Given the description of an element on the screen output the (x, y) to click on. 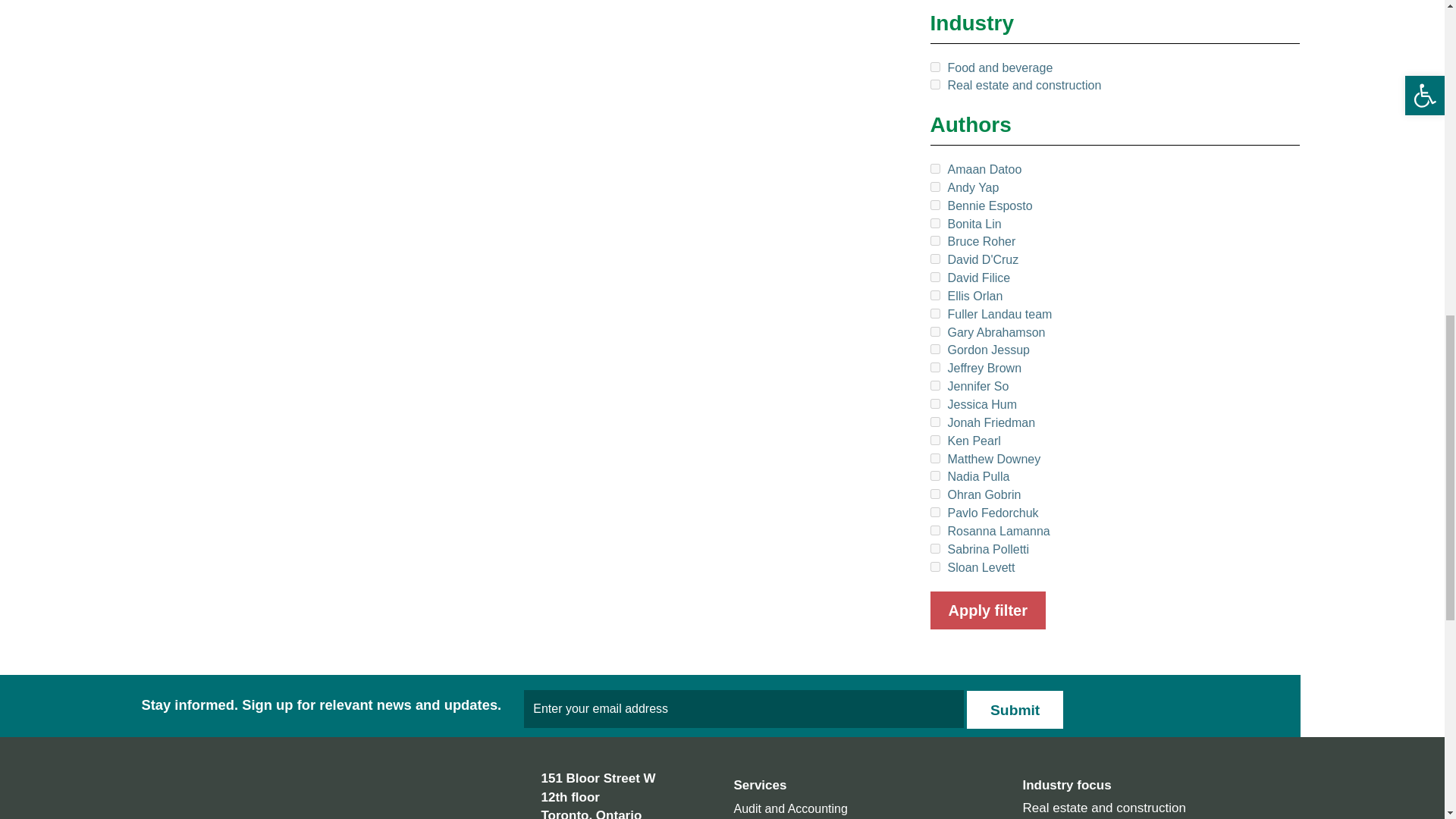
amaan (934, 168)
food-and-beverage (934, 67)
Fuller Landau LLP (231, 812)
real-estate-and-construction (934, 84)
andy (934, 186)
